Given the description of an element on the screen output the (x, y) to click on. 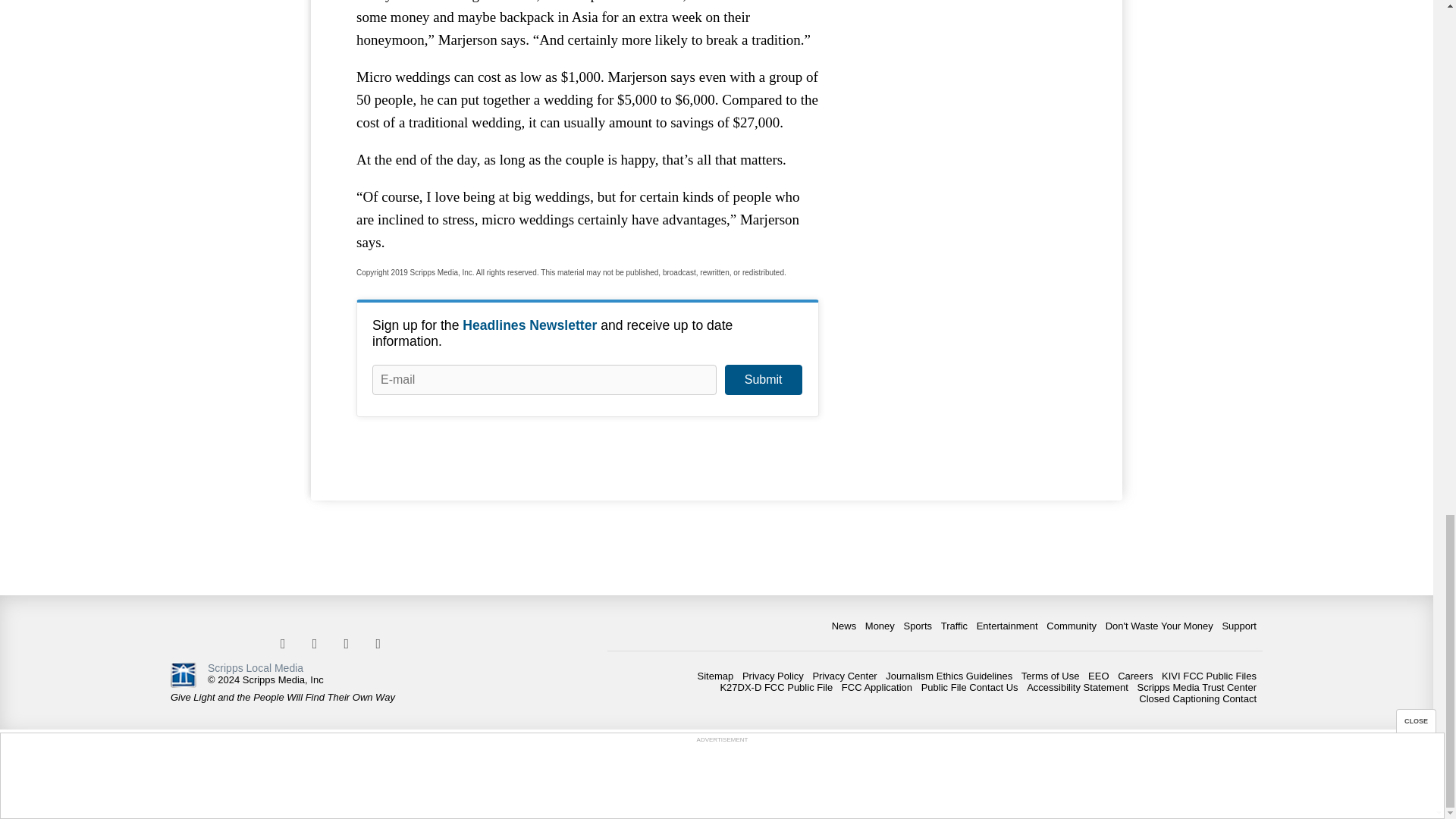
Submit (763, 379)
